Given the description of an element on the screen output the (x, y) to click on. 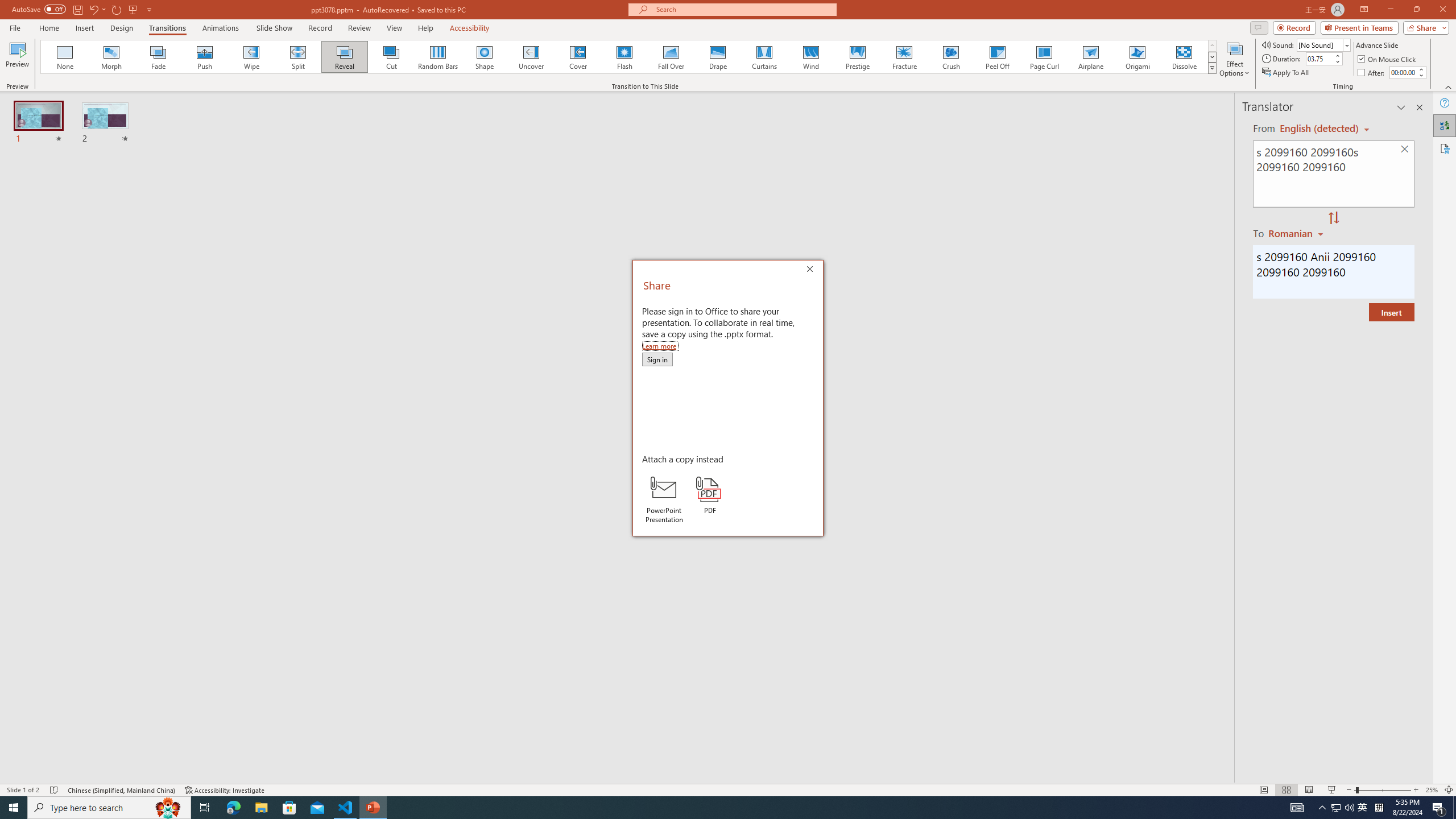
Transition Effects (1212, 67)
Clear text (1404, 149)
Sign in (657, 359)
Uncover (531, 56)
Apply To All (1286, 72)
